Given the description of an element on the screen output the (x, y) to click on. 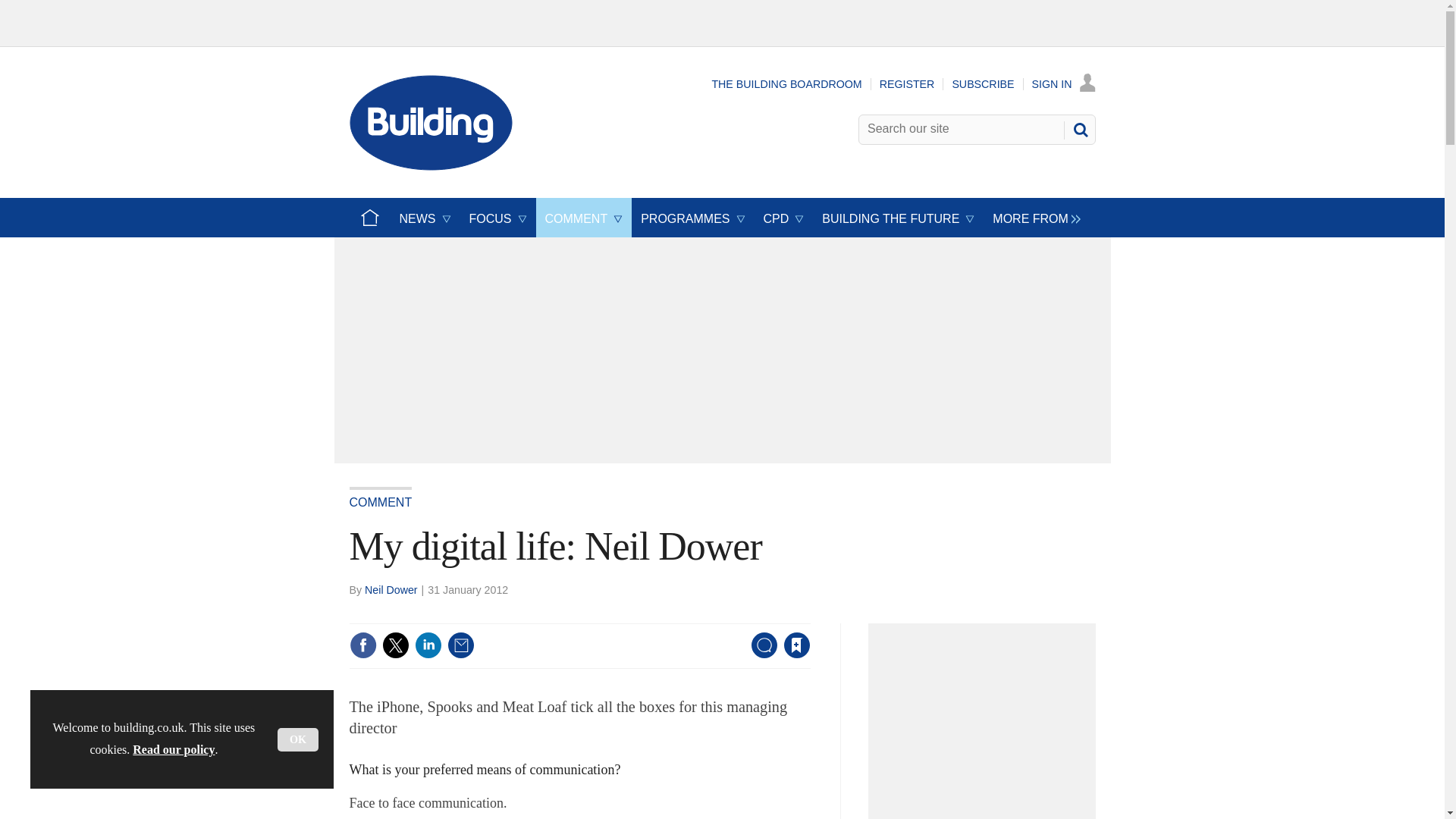
Email this article (460, 645)
3rd party ad content (985, 726)
THE BUILDING BOARDROOM (786, 83)
SIGN IN (1064, 83)
Share this on Twitter (395, 645)
Share this on Facebook (362, 645)
Share this on Linked in (427, 645)
SUBSCRIBE (982, 83)
No comments (759, 654)
Read our policy (173, 748)
SEARCH (1079, 129)
REGISTER (906, 83)
Insert Logo text (430, 165)
